Given the description of an element on the screen output the (x, y) to click on. 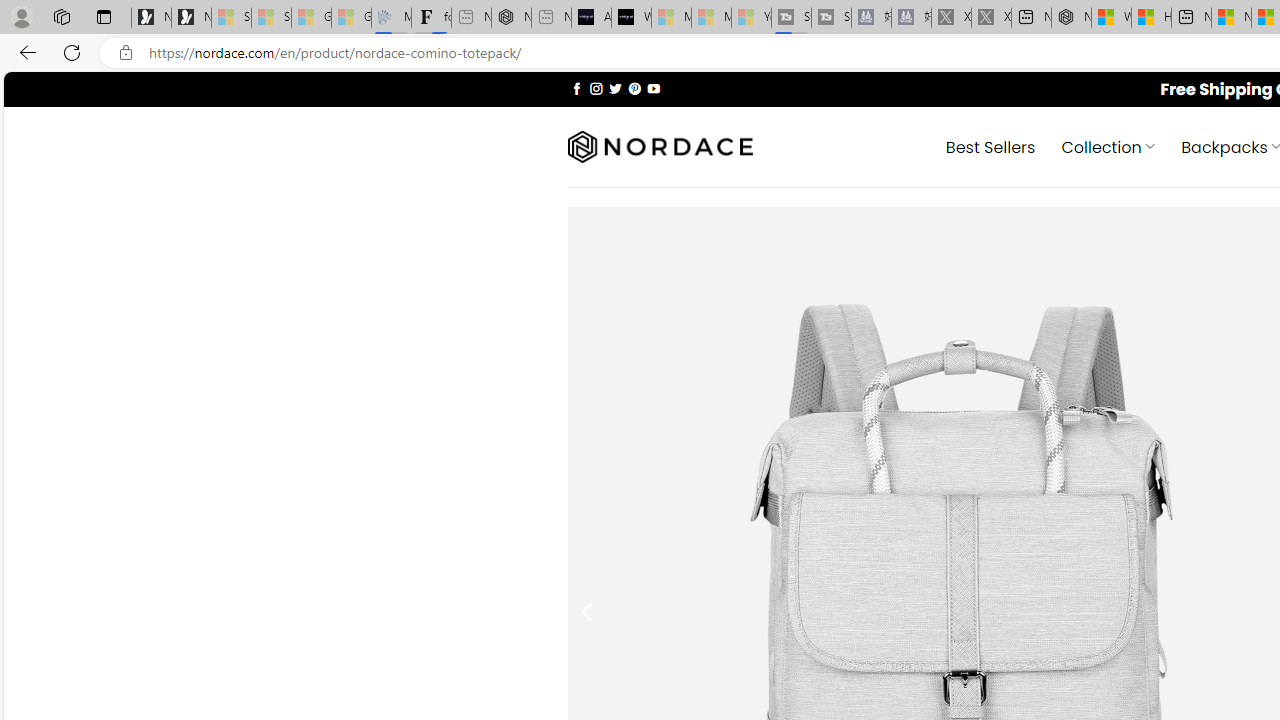
Huge shark washes ashore at New York City beach | Watch (1151, 17)
AI Voice Changer for PC and Mac - Voice.ai (591, 17)
Nordace - My Account (1071, 17)
Wildlife - MSN (1111, 17)
New tab - Sleeping (551, 17)
  Best Sellers (989, 146)
Follow on Instagram (596, 88)
Microsoft Start Sports - Sleeping (671, 17)
